Given the description of an element on the screen output the (x, y) to click on. 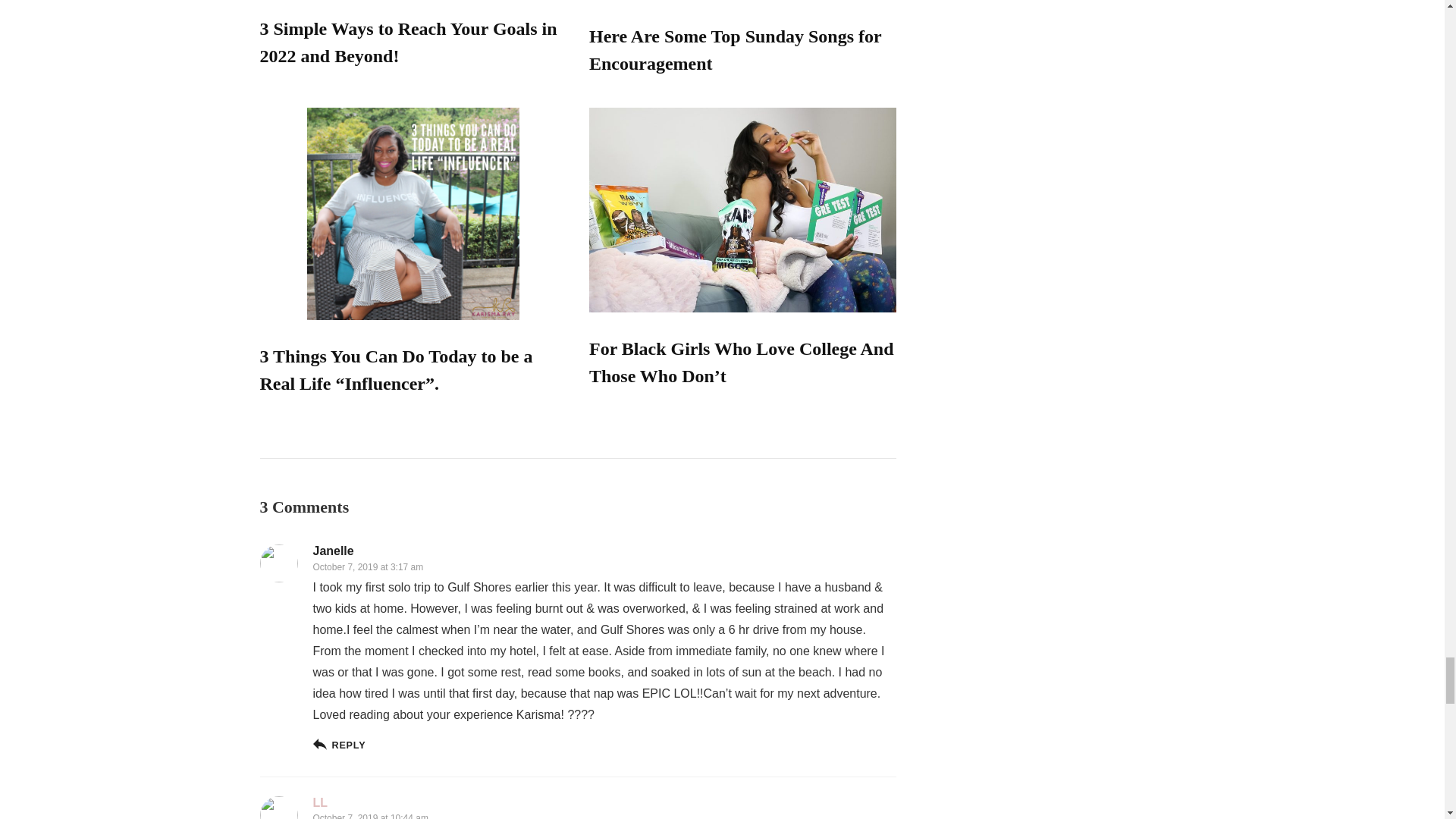
3 Simple Ways to Reach Your Goals in 2022 and Beyond! (407, 42)
LL (320, 802)
REPLY (339, 745)
Here Are Some Top Sunday Songs for Encouragement (734, 49)
October 7, 2019 at 10:44 am (370, 816)
October 7, 2019 at 3:17 am (368, 566)
